Given the description of an element on the screen output the (x, y) to click on. 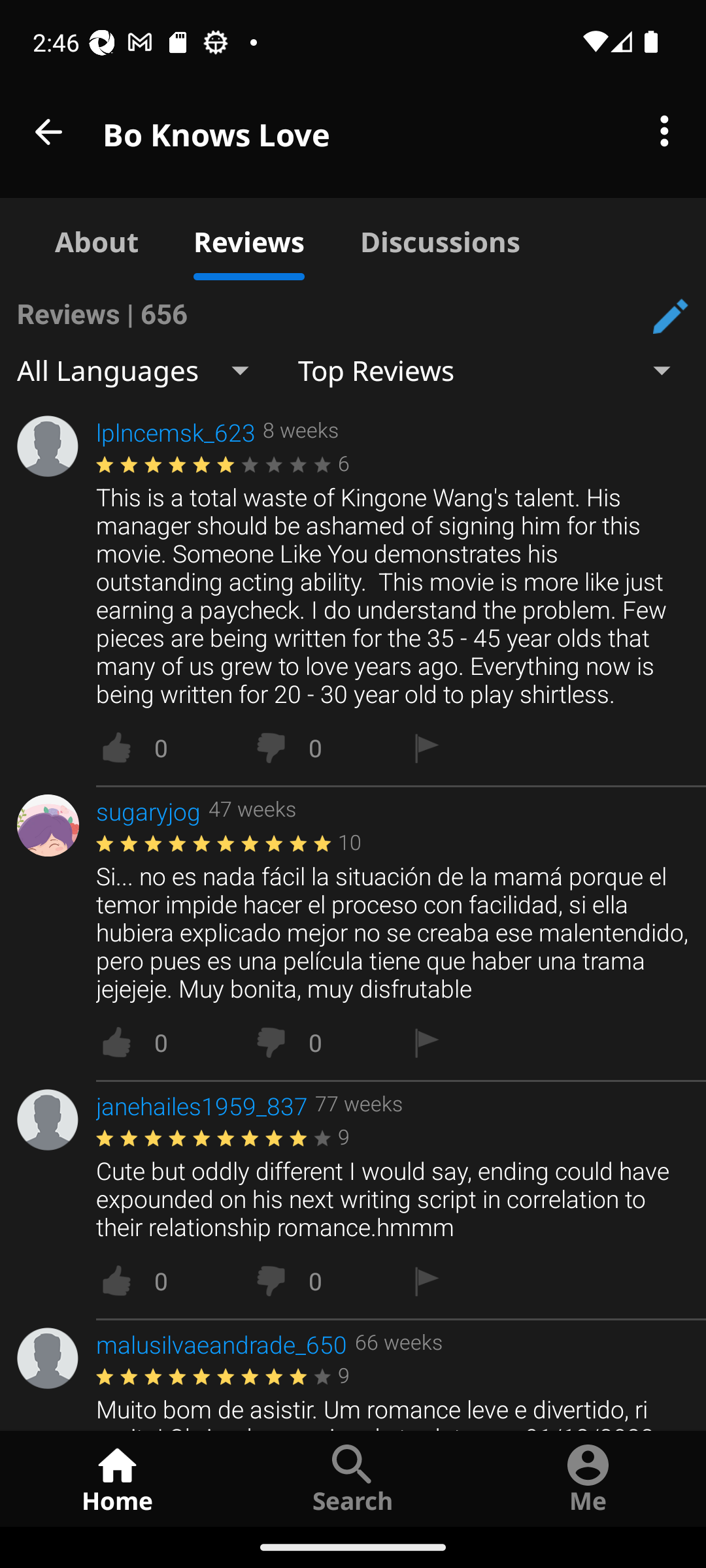
More (664, 131)
About (96, 238)
Discussions (439, 238)
All Languages (148, 369)
Top Reviews (499, 369)
lplncemsk_623 (175, 431)
0 (164, 747)
0 (318, 747)
sugaryjog (148, 810)
0 (164, 1042)
0 (318, 1042)
janehailes1959_837 (201, 1105)
0 (164, 1280)
0 (318, 1280)
malusilvaeandrade_650 (222, 1344)
Search (352, 1478)
Me (588, 1478)
